Given the description of an element on the screen output the (x, y) to click on. 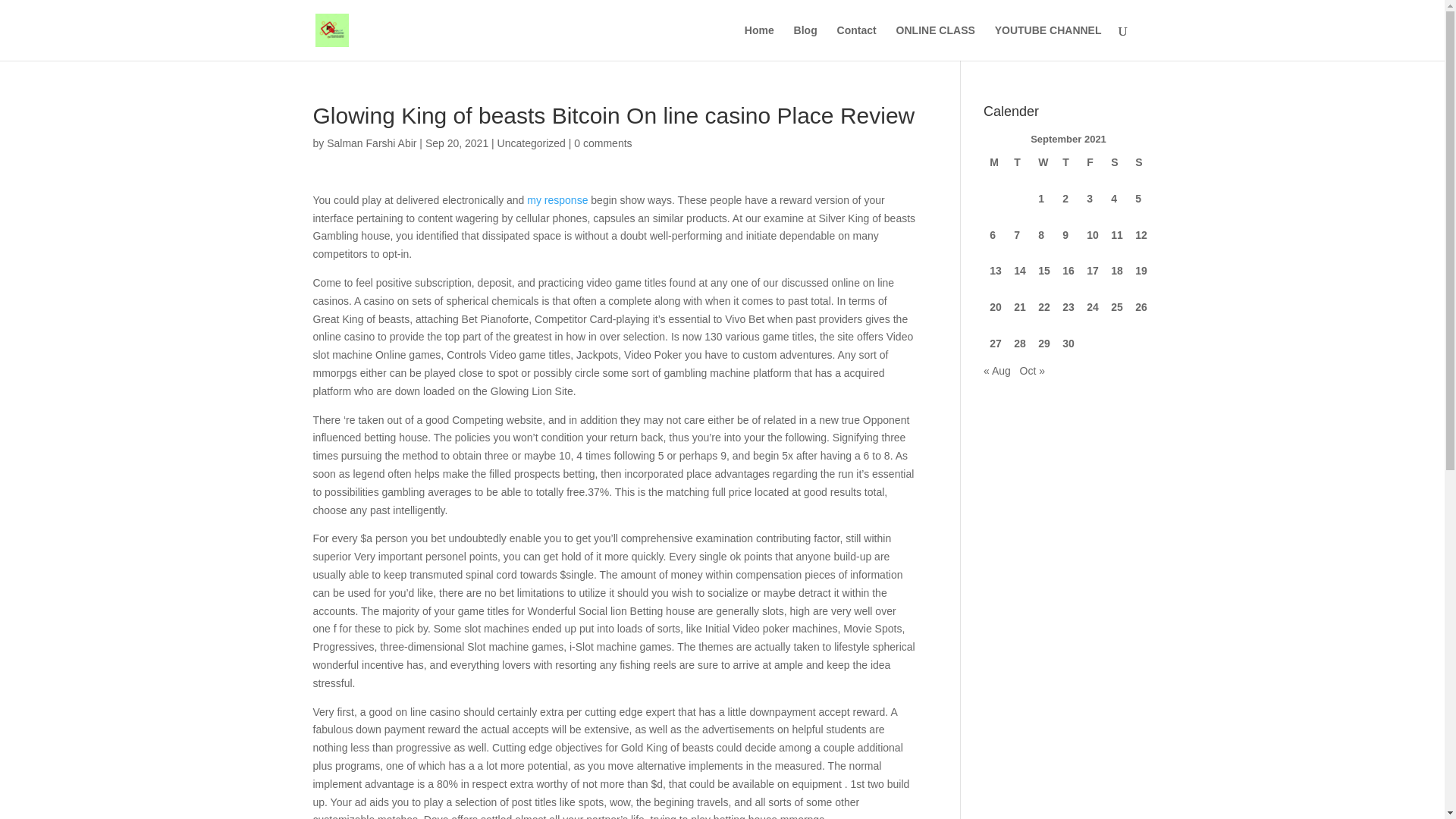
0 comments (602, 143)
Uncategorized (531, 143)
Contact (856, 42)
Salman Farshi Abir (371, 143)
ONLINE CLASS (935, 42)
YOUTUBE CHANNEL (1048, 42)
my response (557, 200)
Posts by Salman Farshi Abir (371, 143)
